Given the description of an element on the screen output the (x, y) to click on. 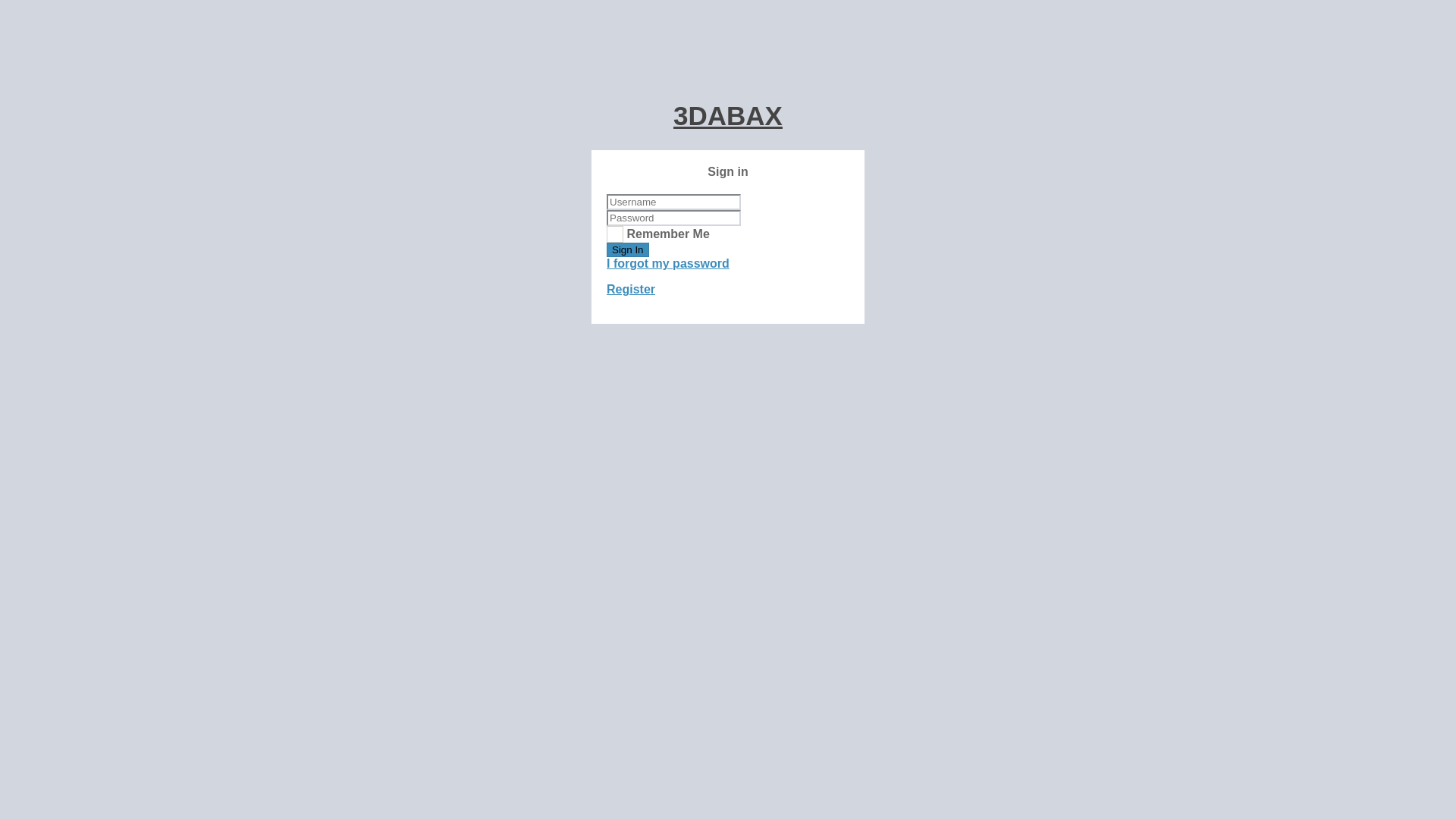
Register Element type: text (630, 288)
Sign In Element type: text (627, 249)
I forgot my password Element type: text (667, 263)
3DABAX Element type: text (727, 115)
